Given the description of an element on the screen output the (x, y) to click on. 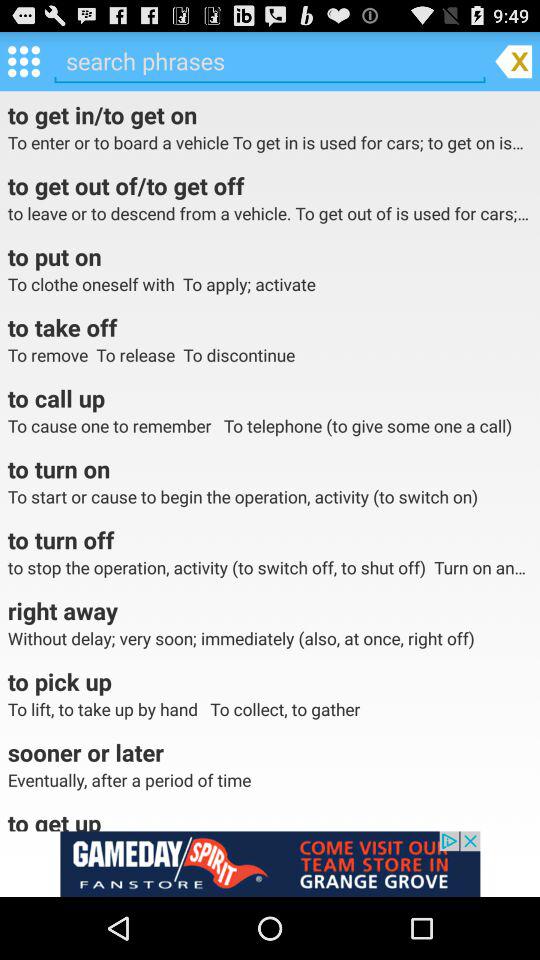
close (513, 60)
